Given the description of an element on the screen output the (x, y) to click on. 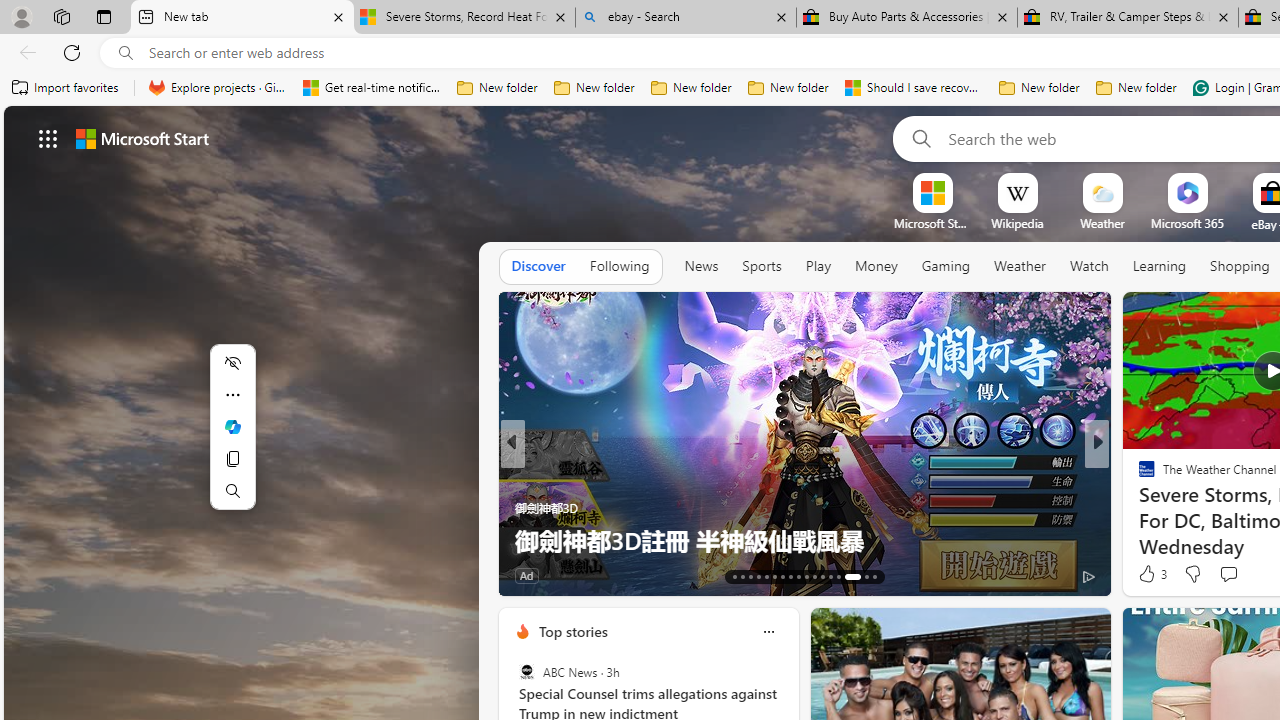
Shopping (1240, 265)
Buy Auto Parts & Accessories | eBay (907, 17)
Should I save recovered Word documents? - Microsoft Support (913, 88)
Search (917, 138)
AutomationID: tab-21 (797, 576)
AutomationID: tab-15 (750, 576)
Mini menu on text selection (232, 426)
AutomationID: tab-17 (765, 576)
ABC News (526, 672)
Sports (761, 267)
Weather (1019, 267)
AutomationID: tab-26 (838, 576)
Dislike (1191, 574)
Tab actions menu (104, 16)
Refresh (72, 52)
